Given the description of an element on the screen output the (x, y) to click on. 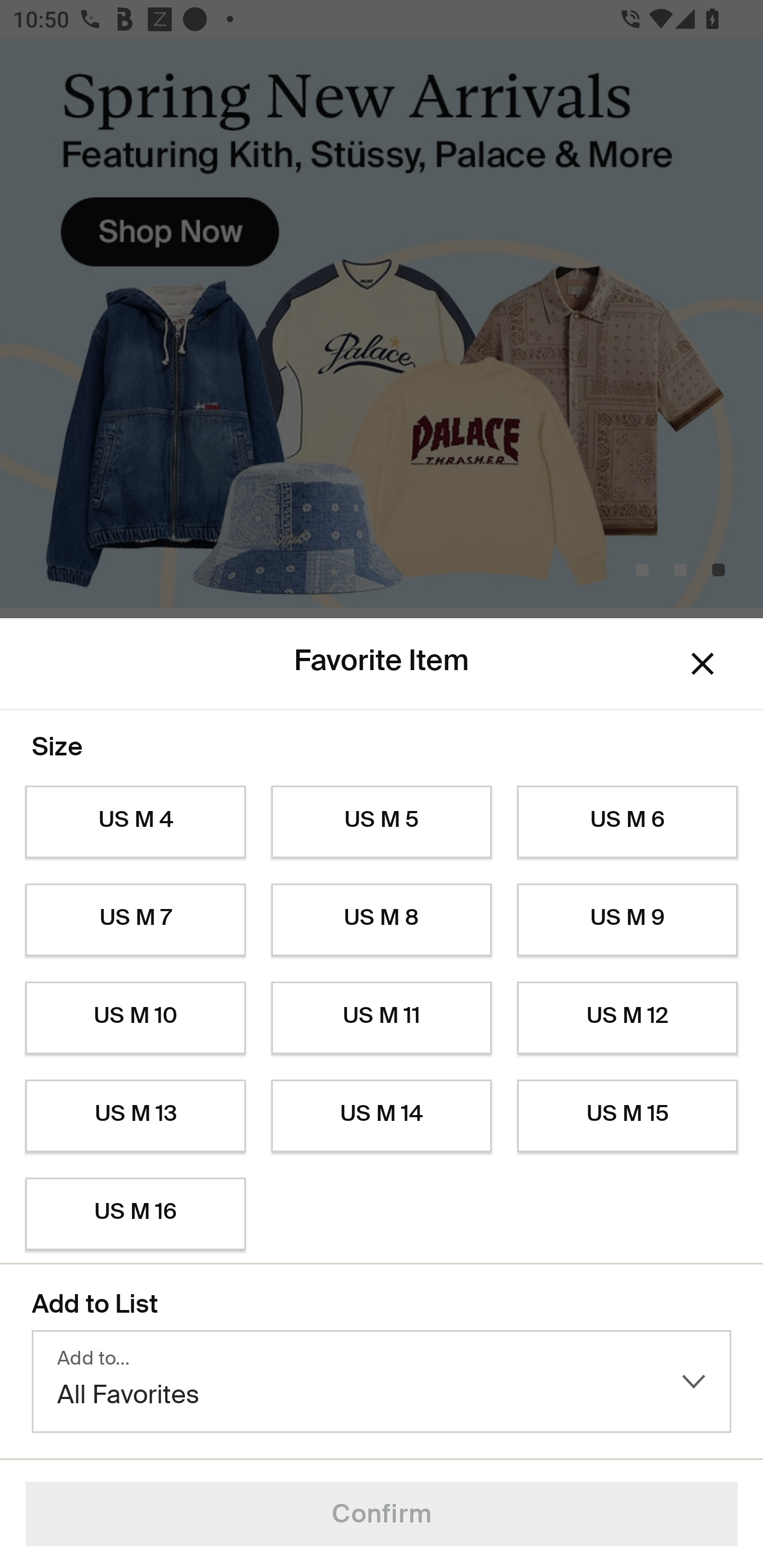
Dismiss (702, 663)
US M 4 (135, 822)
US M 5 (381, 822)
US M 6 (627, 822)
US M 7 (135, 919)
US M 8 (381, 919)
US M 9 (627, 919)
US M 10 (135, 1018)
US M 11 (381, 1018)
US M 12 (627, 1018)
US M 13 (135, 1116)
US M 14 (381, 1116)
US M 15 (627, 1116)
US M 16 (135, 1214)
Add to… All Favorites (381, 1381)
Confirm (381, 1513)
